Given the description of an element on the screen output the (x, y) to click on. 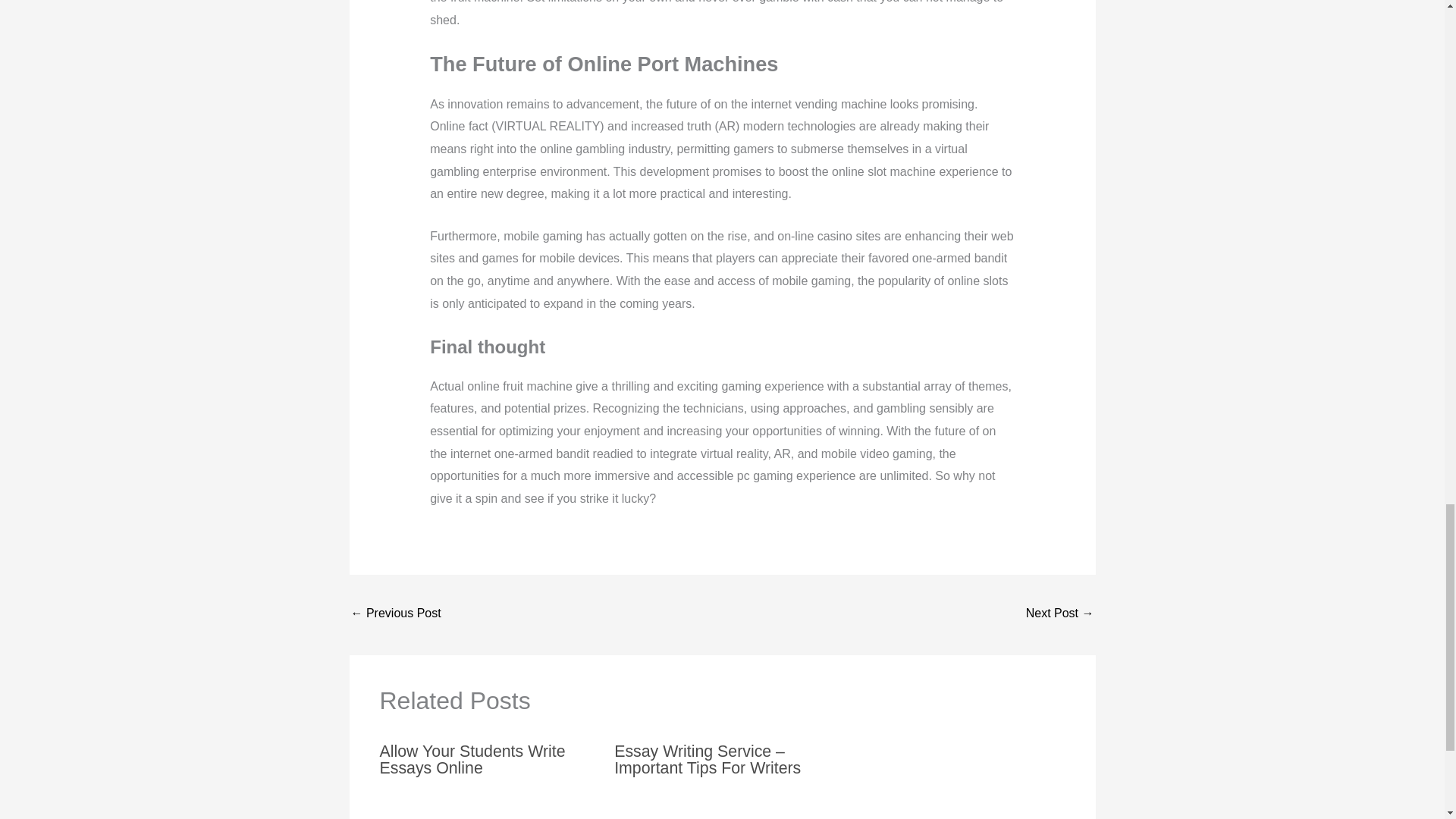
Allow Your Students Write Essays Online (471, 759)
100 Euro Bonus book auf ra Exklusive Einzahlung (395, 614)
